Given the description of an element on the screen output the (x, y) to click on. 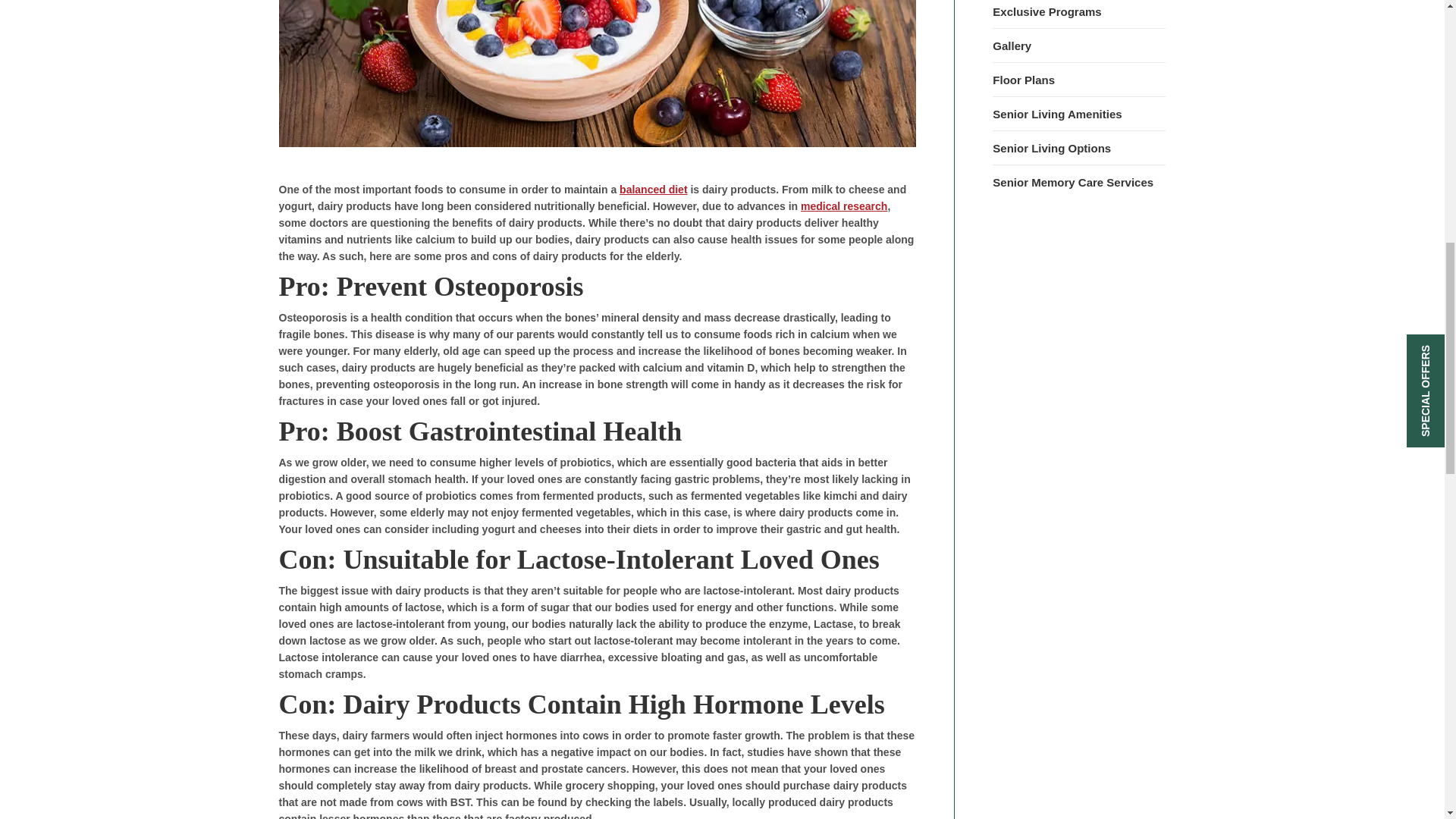
Pros And Cons Of Dairy Products For Seniors (598, 73)
